Given the description of an element on the screen output the (x, y) to click on. 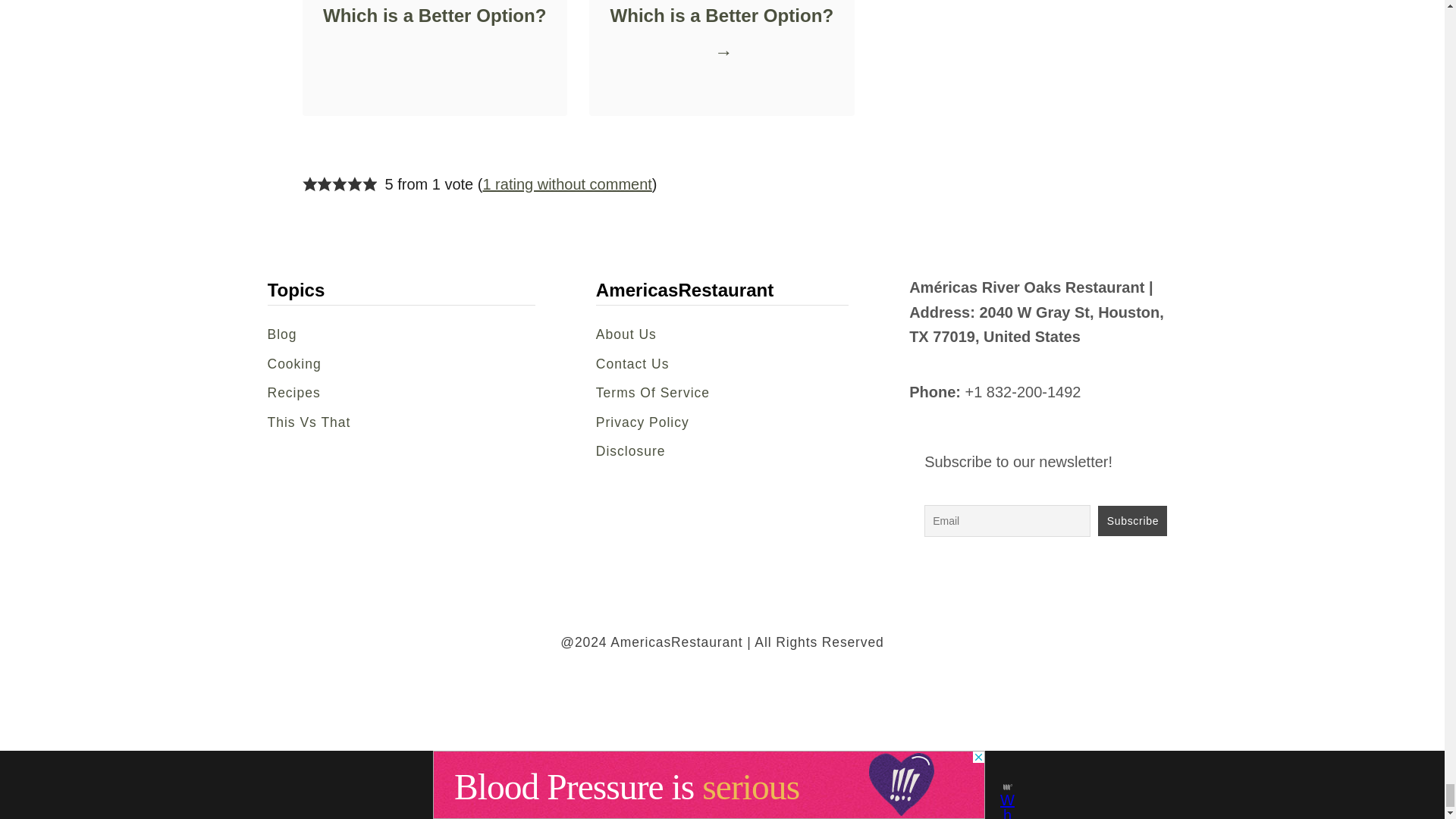
Subscribe (1132, 521)
